Given the description of an element on the screen output the (x, y) to click on. 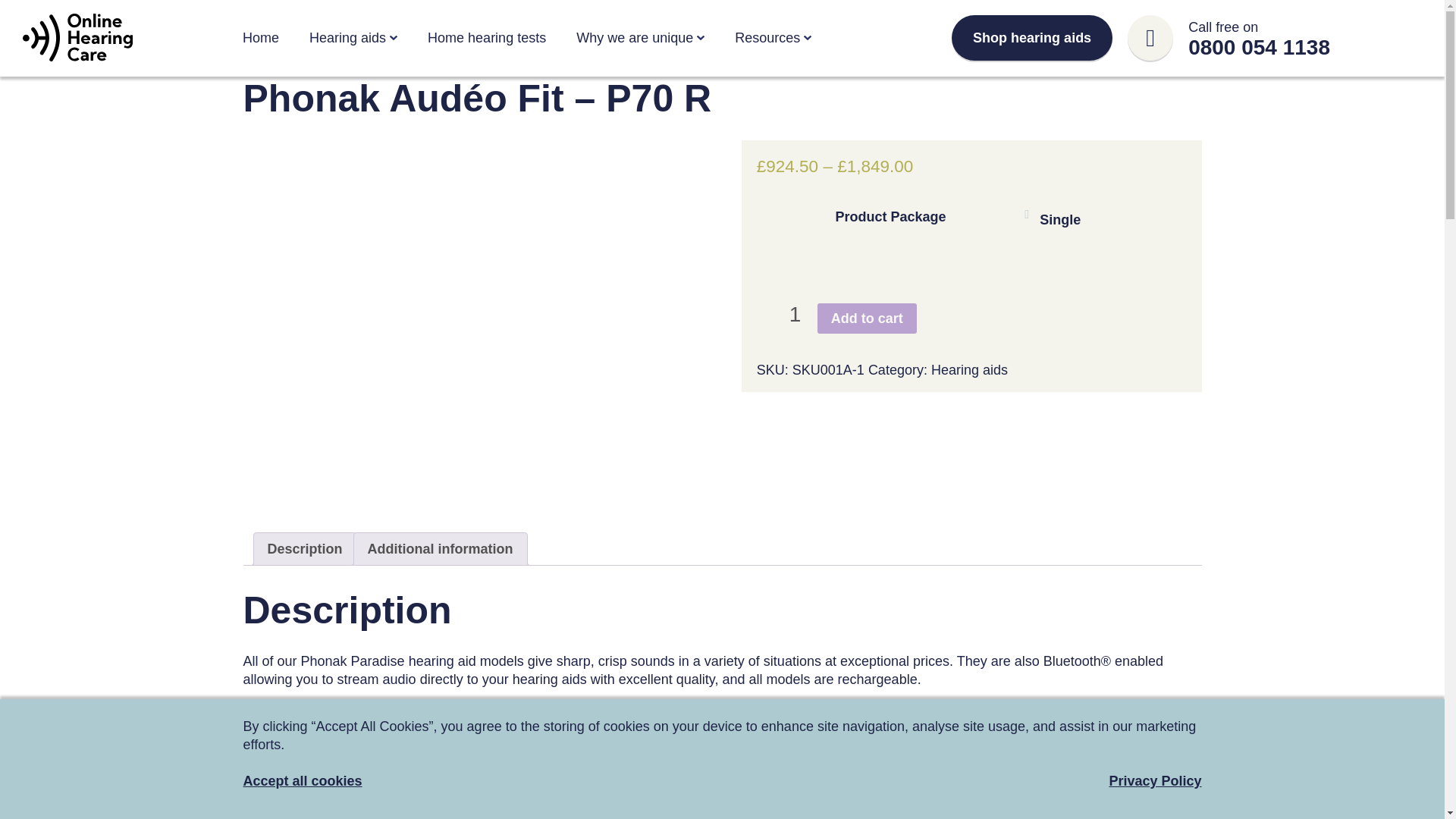
Additional information (440, 549)
Add to cart (866, 318)
Hearing aids (969, 369)
1 (795, 314)
0800 054 1138 (1259, 47)
Resources (767, 37)
Home (261, 37)
Home hearing tests (487, 37)
Shop hearing aids (1032, 37)
Description (304, 549)
